Given the description of an element on the screen output the (x, y) to click on. 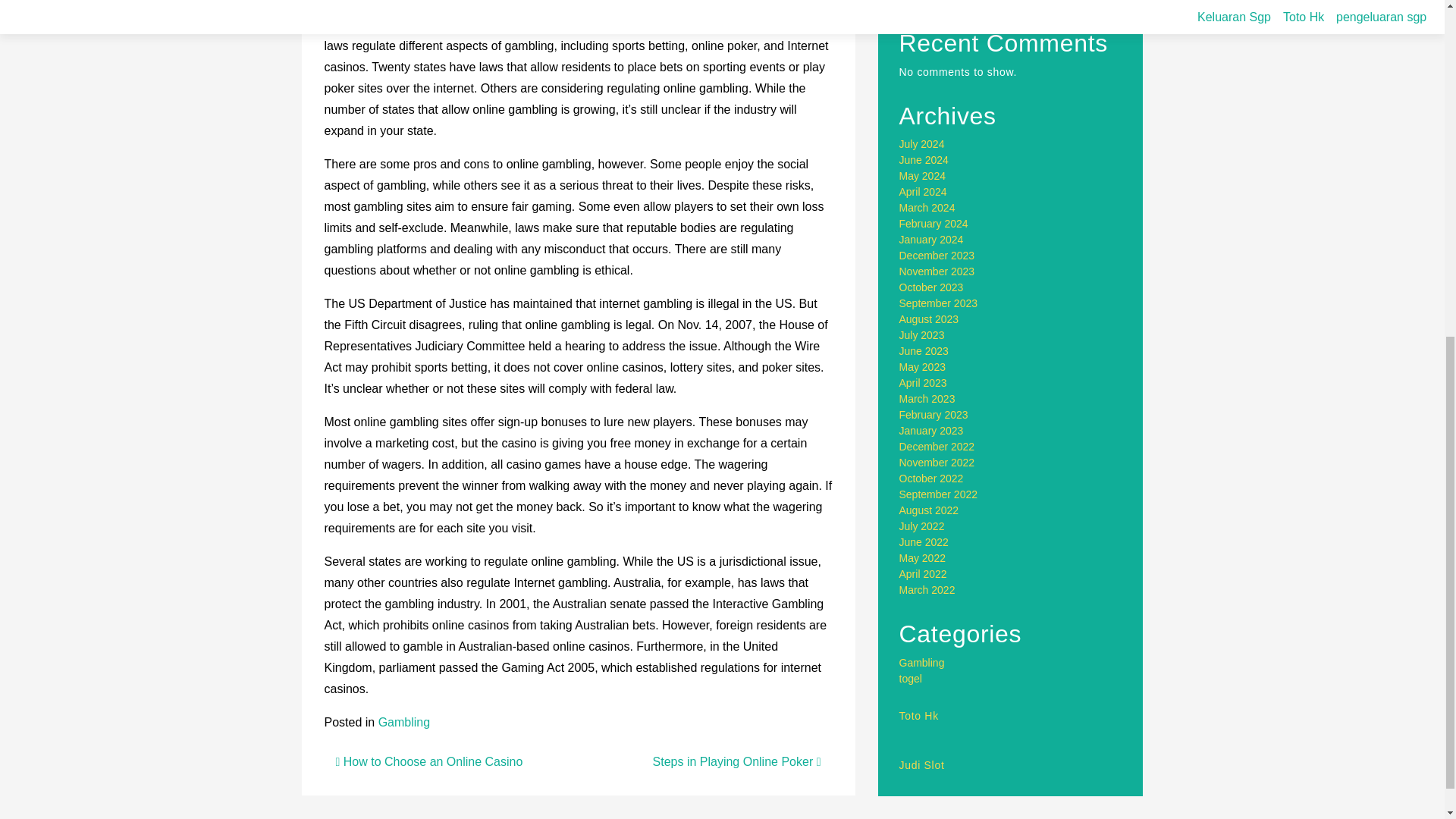
December 2023 (937, 255)
February 2024 (933, 223)
September 2023 (938, 303)
 How to Choose an Online Casino (428, 761)
October 2023 (931, 287)
August 2023 (929, 318)
October 2022 (931, 478)
March 2024 (927, 207)
November 2022 (937, 462)
August 2022 (929, 510)
Gambling (403, 721)
January 2023 (931, 430)
June 2024 (924, 159)
May 2023 (921, 367)
